Given the description of an element on the screen output the (x, y) to click on. 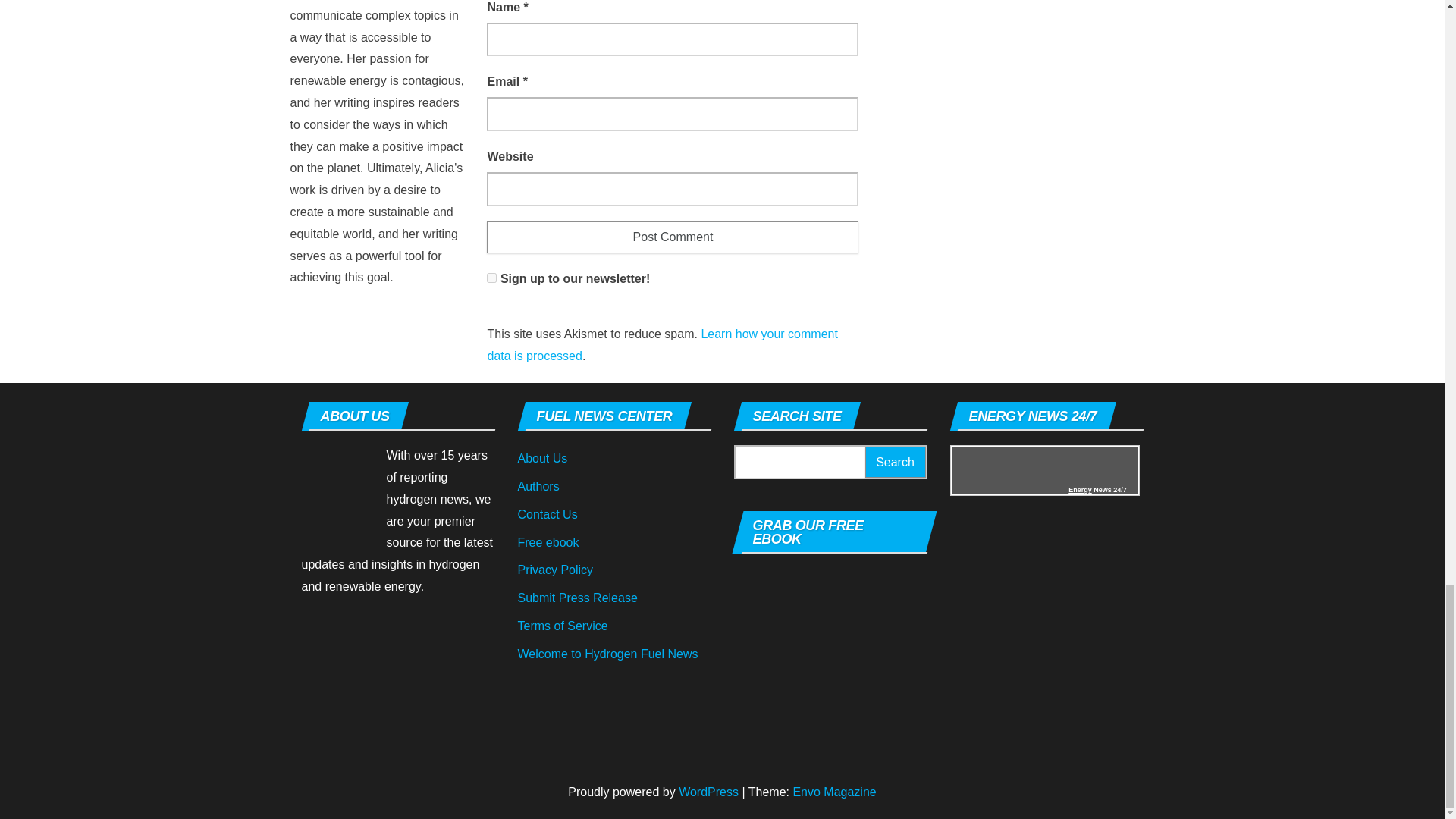
Search (894, 461)
1 (491, 277)
Post Comment (672, 237)
